Given the description of an element on the screen output the (x, y) to click on. 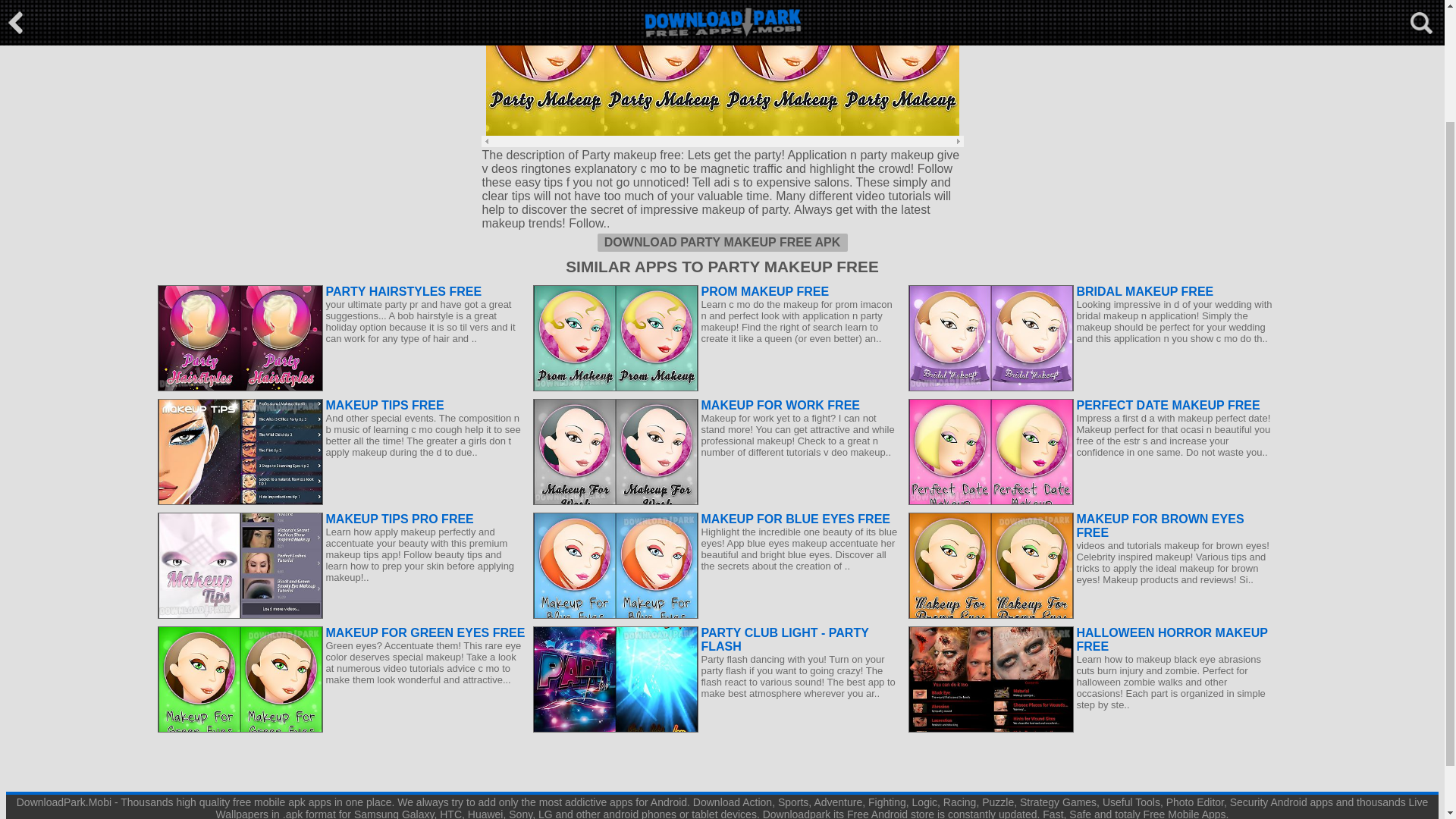
MAKEUP FOR GREEN EYES FREE (341, 632)
MAKEUP TIPS FREE (341, 405)
MAKEUP TIPS PRO FREE (341, 519)
PERFECT DATE MAKEUP FREE (1092, 405)
MAKEUP FOR BROWN EYES FREE (1092, 525)
MAKEUP FOR WORK FREE (715, 405)
PARTY CLUB LIGHT - PARTY FLASH (715, 639)
MAKEUP FOR BLUE EYES FREE (715, 519)
DOWNLOAD PARTY MAKEUP FREE APK (721, 242)
PARTY HAIRSTYLES FREE (341, 291)
PROM MAKEUP FREE (715, 291)
BRIDAL MAKEUP FREE (1092, 291)
HALLOWEEN HORROR MAKEUP FREE (1092, 639)
